Given the description of an element on the screen output the (x, y) to click on. 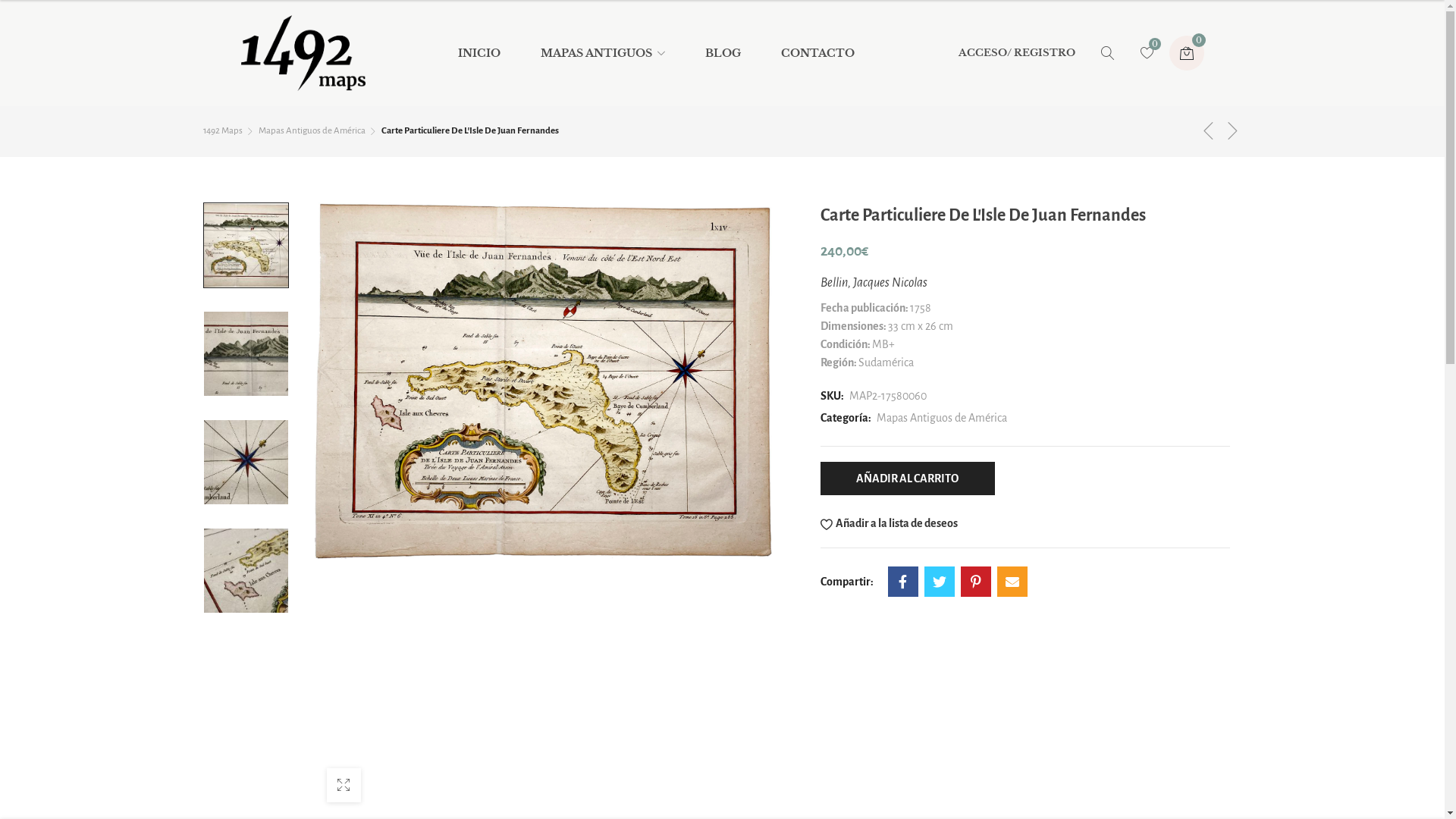
Producto anterior Element type: text (1208, 130)
Twitter Element type: text (939, 581)
Next product Element type: text (1232, 130)
INICIO Element type: text (483, 52)
0 Element type: text (1146, 52)
Tienda Online de Mapas Antiguos Element type: hover (303, 53)
CONTACTO Element type: text (813, 52)
Acceder Element type: text (952, 274)
MAPAS ANTIGUOS Element type: text (602, 52)
Facebook Element type: text (903, 581)
1492 Maps Element type: text (228, 131)
Acceder Element type: text (952, 191)
BLOG Element type: text (722, 52)
ACCESO/ REGISTRO Element type: text (1016, 52)
0 Element type: text (1186, 52)
Pinterest Element type: text (975, 581)
Email Element type: text (1012, 581)
